Given the description of an element on the screen output the (x, y) to click on. 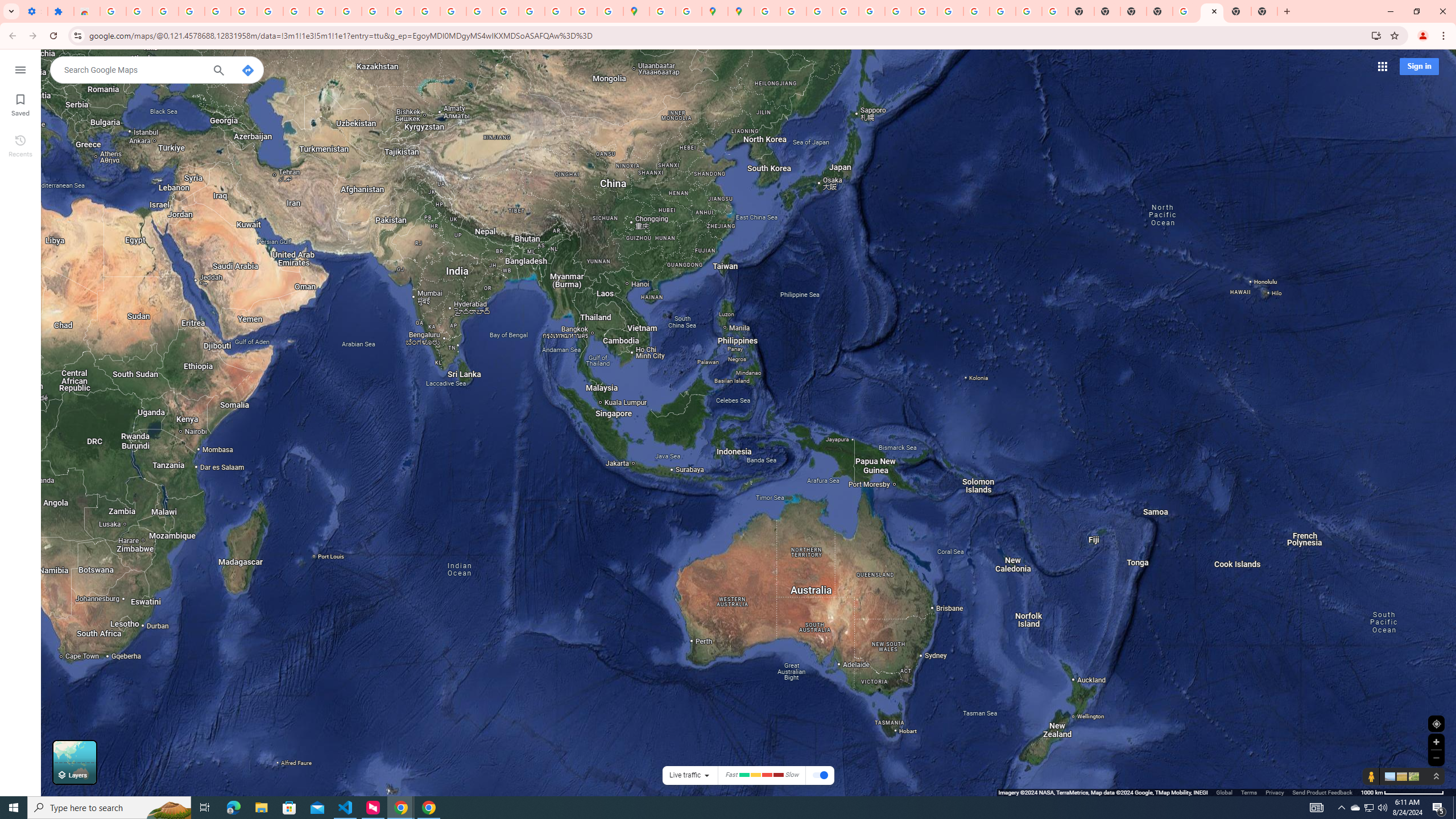
Layers (74, 762)
Google Maps (636, 11)
Sign in - Google Accounts (112, 11)
Extensions (60, 11)
New Tab (1159, 11)
